Given the description of an element on the screen output the (x, y) to click on. 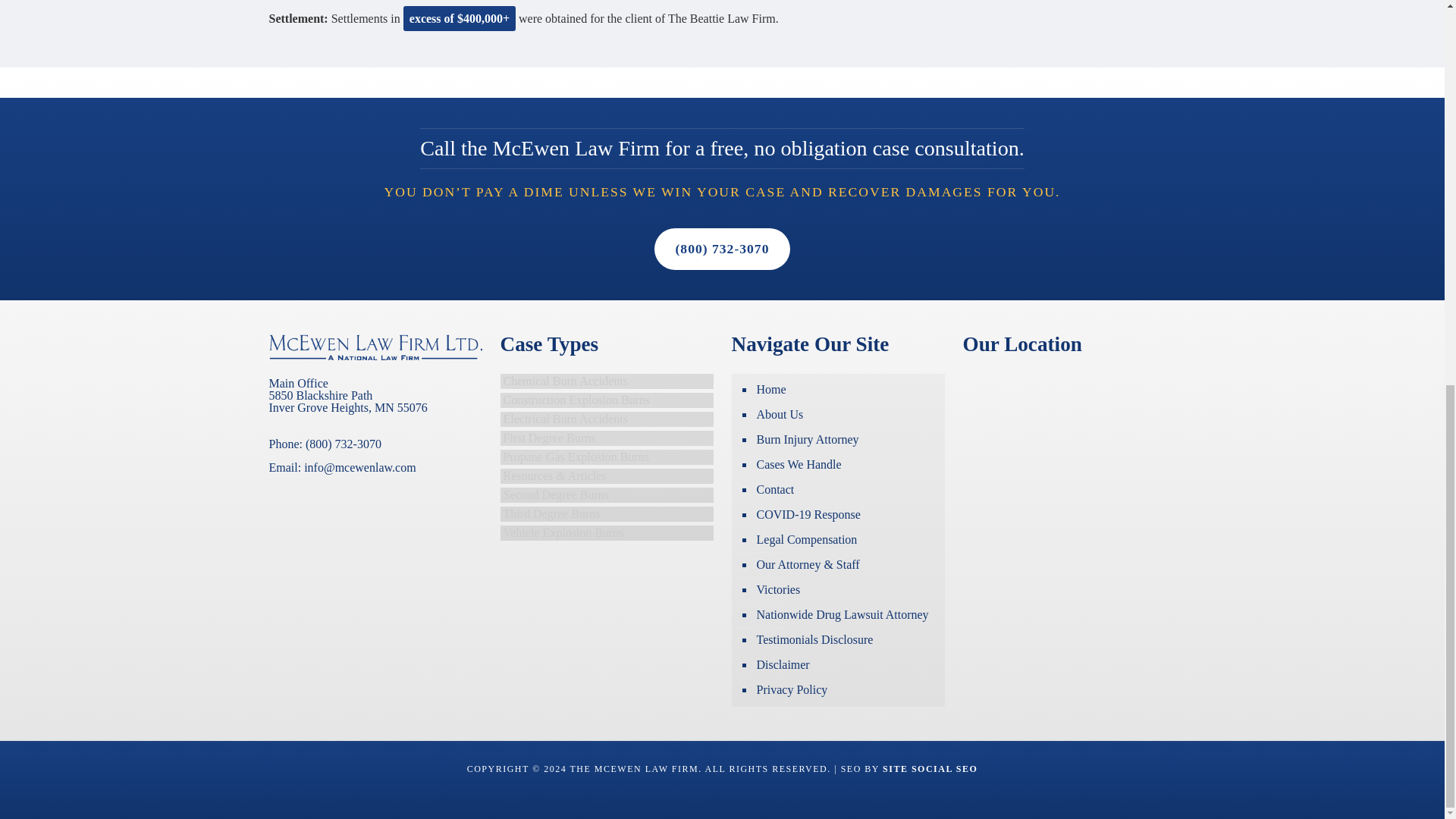
First Degree Burns (606, 437)
Vehicle Explosion Burns (606, 532)
Propane Gas Explosion Burns (606, 457)
Electrical Burn Accidents (606, 418)
Construction Explosion Burns (606, 400)
Second Degree Burns (606, 494)
Chemical Burn Accidents (606, 381)
Third Degree Burns (606, 513)
